Given the description of an element on the screen output the (x, y) to click on. 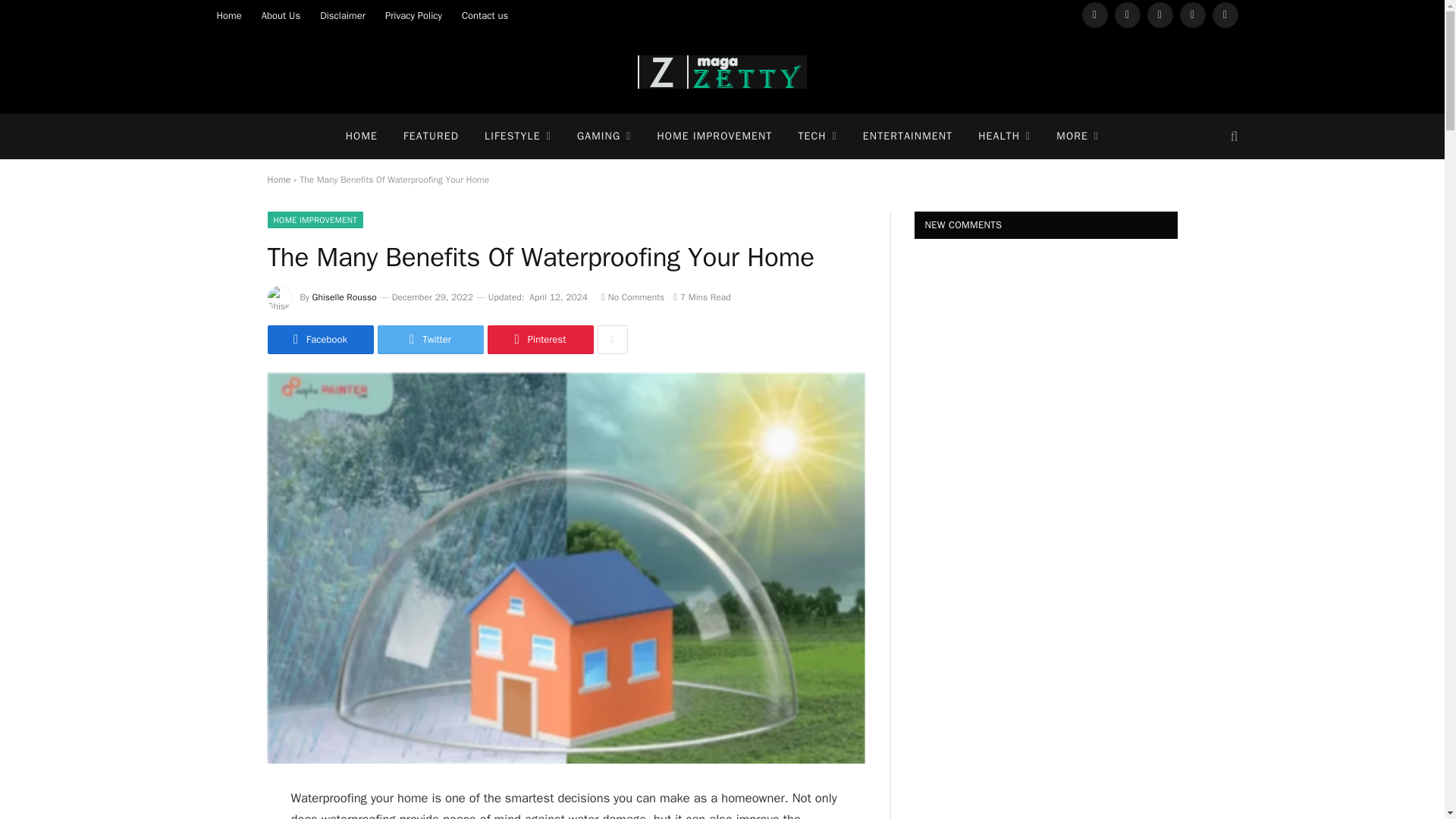
HEALTH (1004, 135)
Posts by Ghiselle Rousso (345, 297)
HOME IMPROVEMENT (713, 135)
Share on Pinterest (539, 339)
FEATURED (430, 135)
LIFESTYLE (517, 135)
Disclaimer (342, 15)
Vimeo (1192, 14)
Contact us (484, 15)
Instagram (1160, 14)
